Given the description of an element on the screen output the (x, y) to click on. 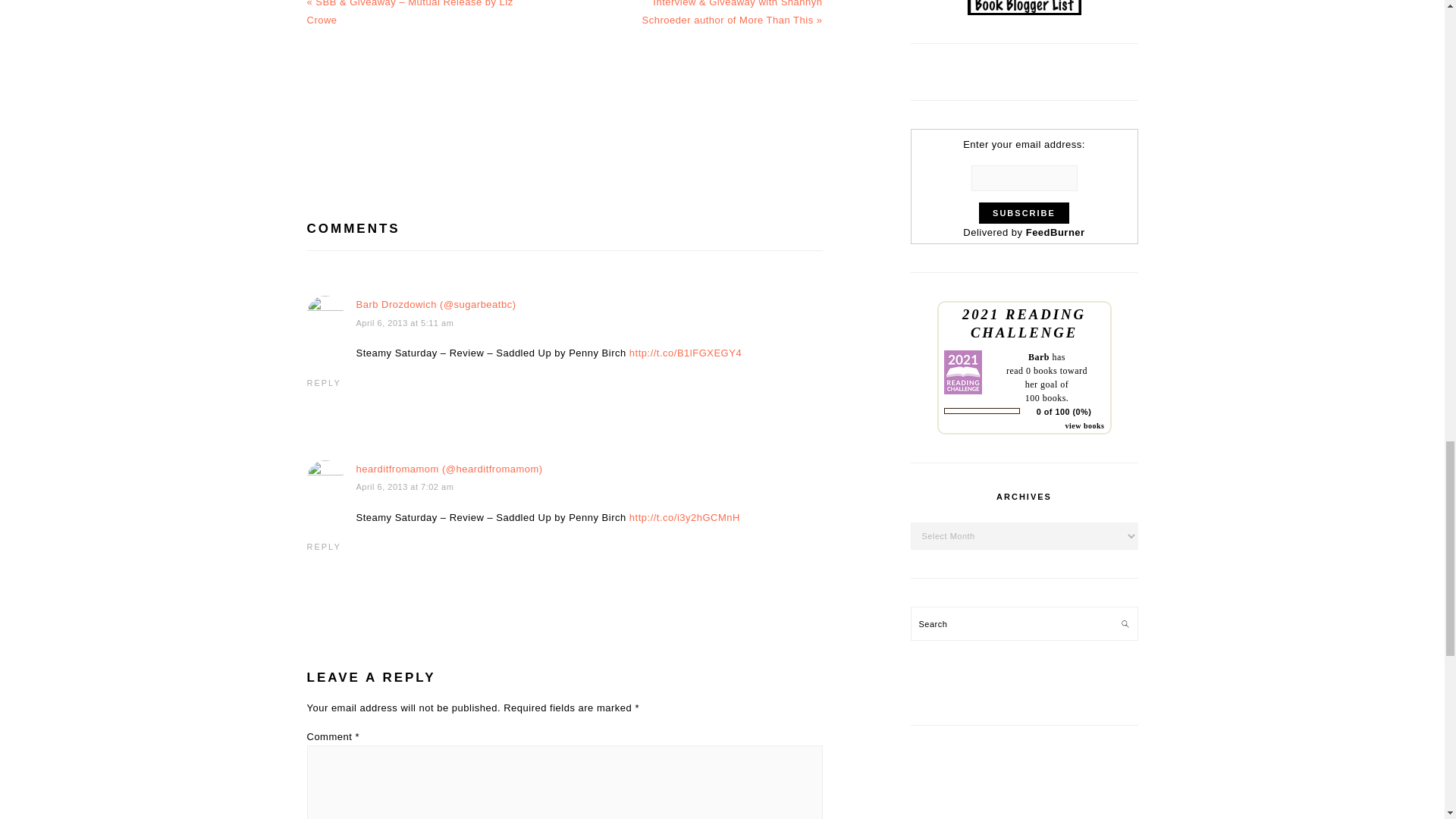
April 6, 2013 at 5:11 am (405, 322)
REPLY (322, 546)
Subscribe (1023, 212)
REPLY (322, 382)
April 6, 2013 at 7:02 am (405, 486)
